Given the description of an element on the screen output the (x, y) to click on. 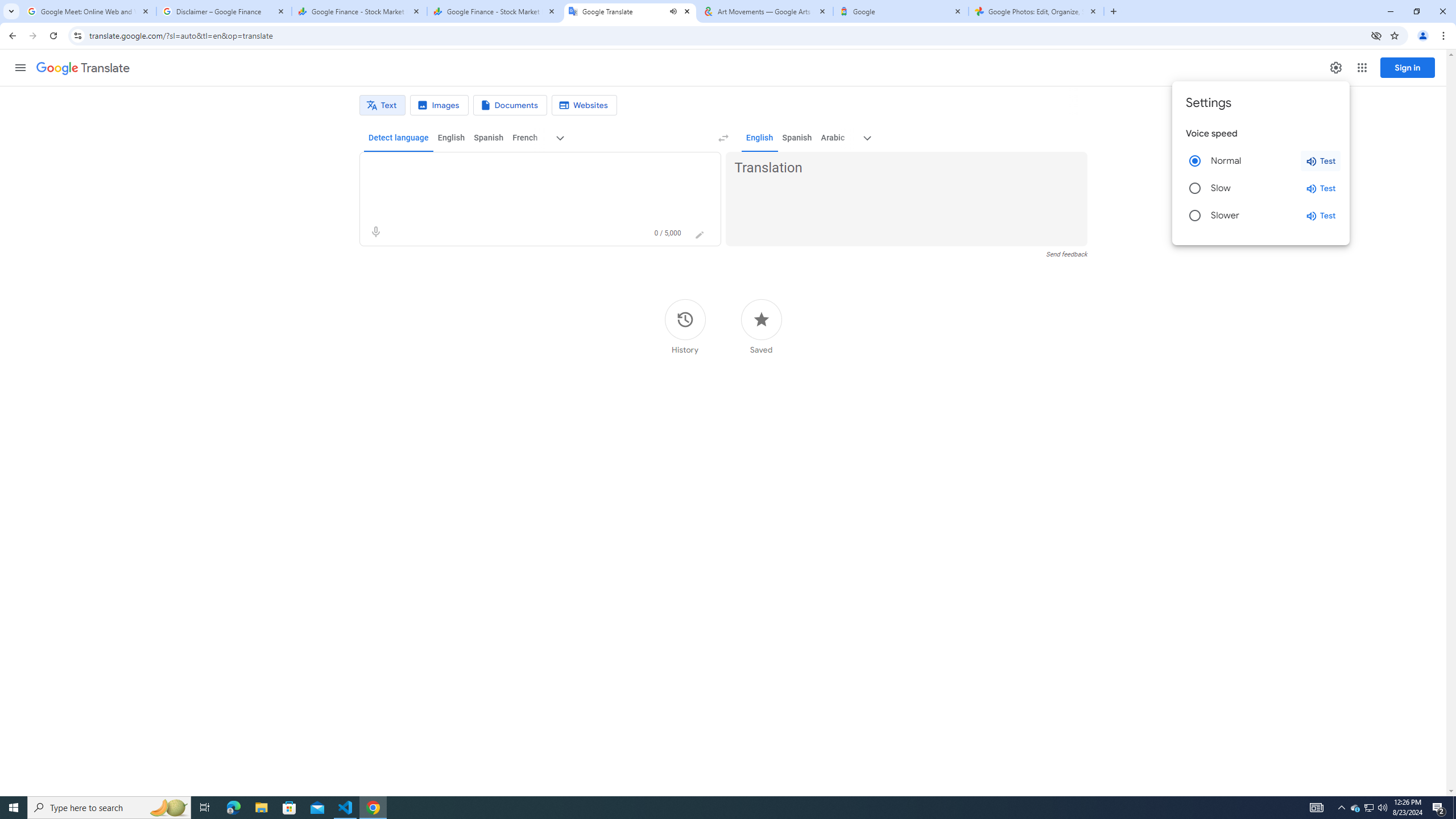
Swap languages (Ctrl+Shift+S) (723, 137)
Text translation (382, 105)
Detect language (398, 137)
English (759, 137)
Document translation (510, 105)
Google (901, 11)
Slower (1194, 215)
